Given the description of an element on the screen output the (x, y) to click on. 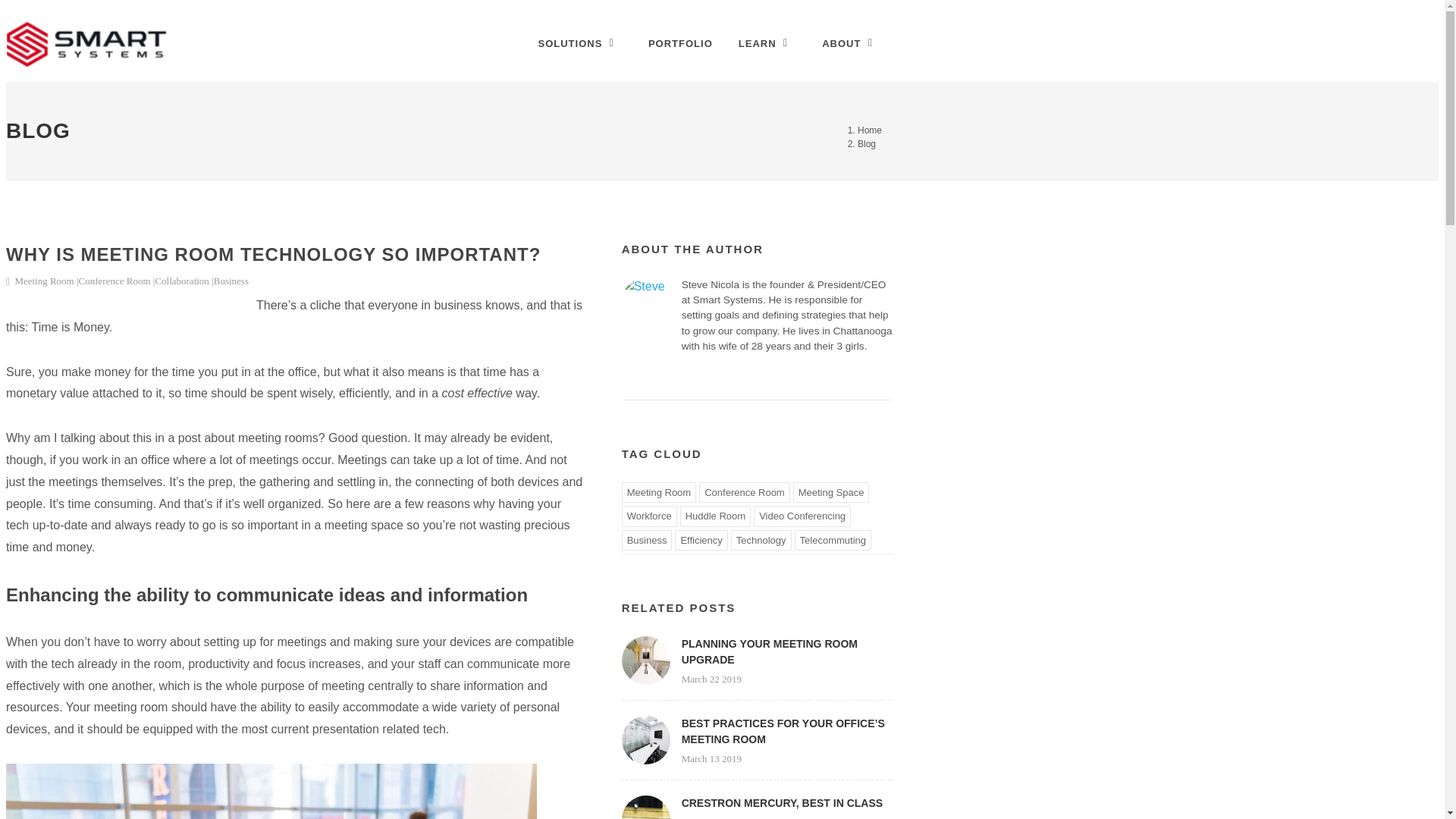
Meeting Space (831, 492)
ABOUT (851, 43)
Conference Room (744, 492)
PORTFOLIO (680, 43)
Home (869, 130)
LEARN (767, 43)
SOLUTIONS (579, 43)
Meeting Room (659, 492)
Blog (866, 143)
Workforce (649, 516)
Huddle Room (715, 516)
